Given the description of an element on the screen output the (x, y) to click on. 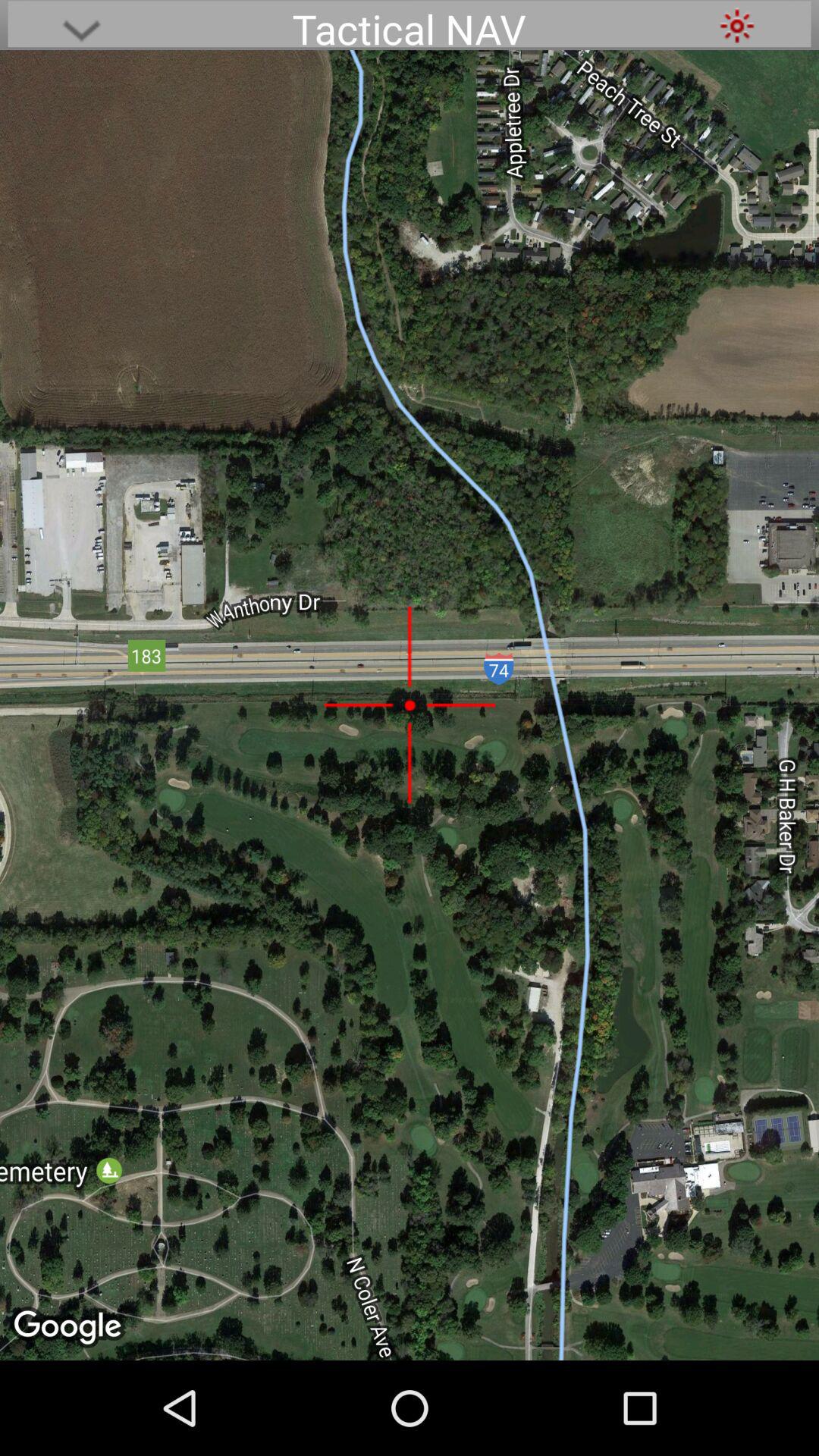
press the app next to tactical nav app (737, 25)
